Given the description of an element on the screen output the (x, y) to click on. 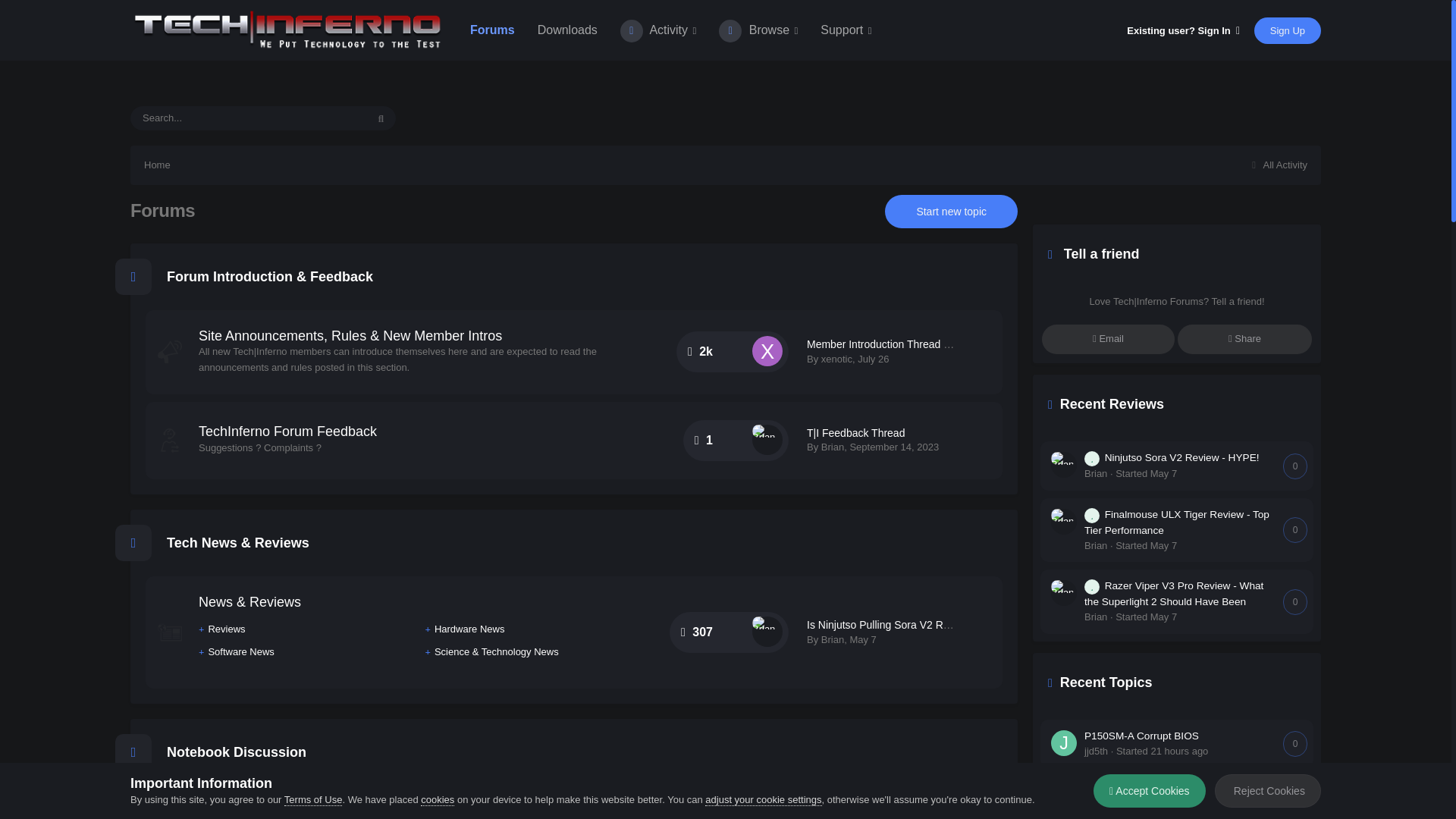
Existing user? Sign In   (1183, 30)
Go to last post (862, 639)
Go to last post (872, 358)
Go to xenotic's profile (767, 350)
Browse (758, 30)
All Activity (1277, 164)
Downloads (567, 30)
Go to Brian's profile (767, 631)
Member Introduction Thread - Post Here! (903, 344)
Go to Brian's profile (832, 446)
